Given the description of an element on the screen output the (x, y) to click on. 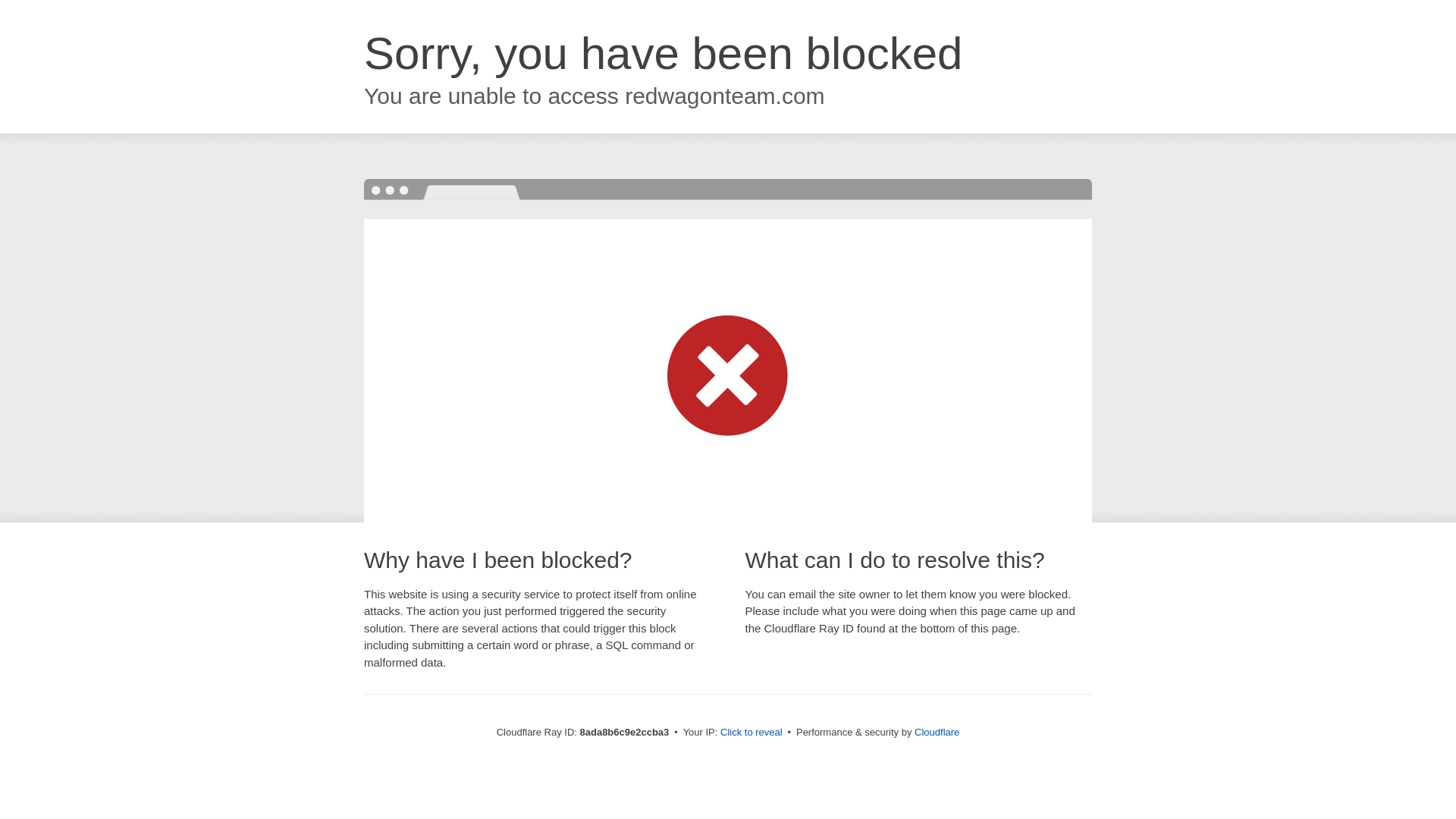
Click to reveal (751, 732)
Cloudflare (936, 731)
